Given the description of an element on the screen output the (x, y) to click on. 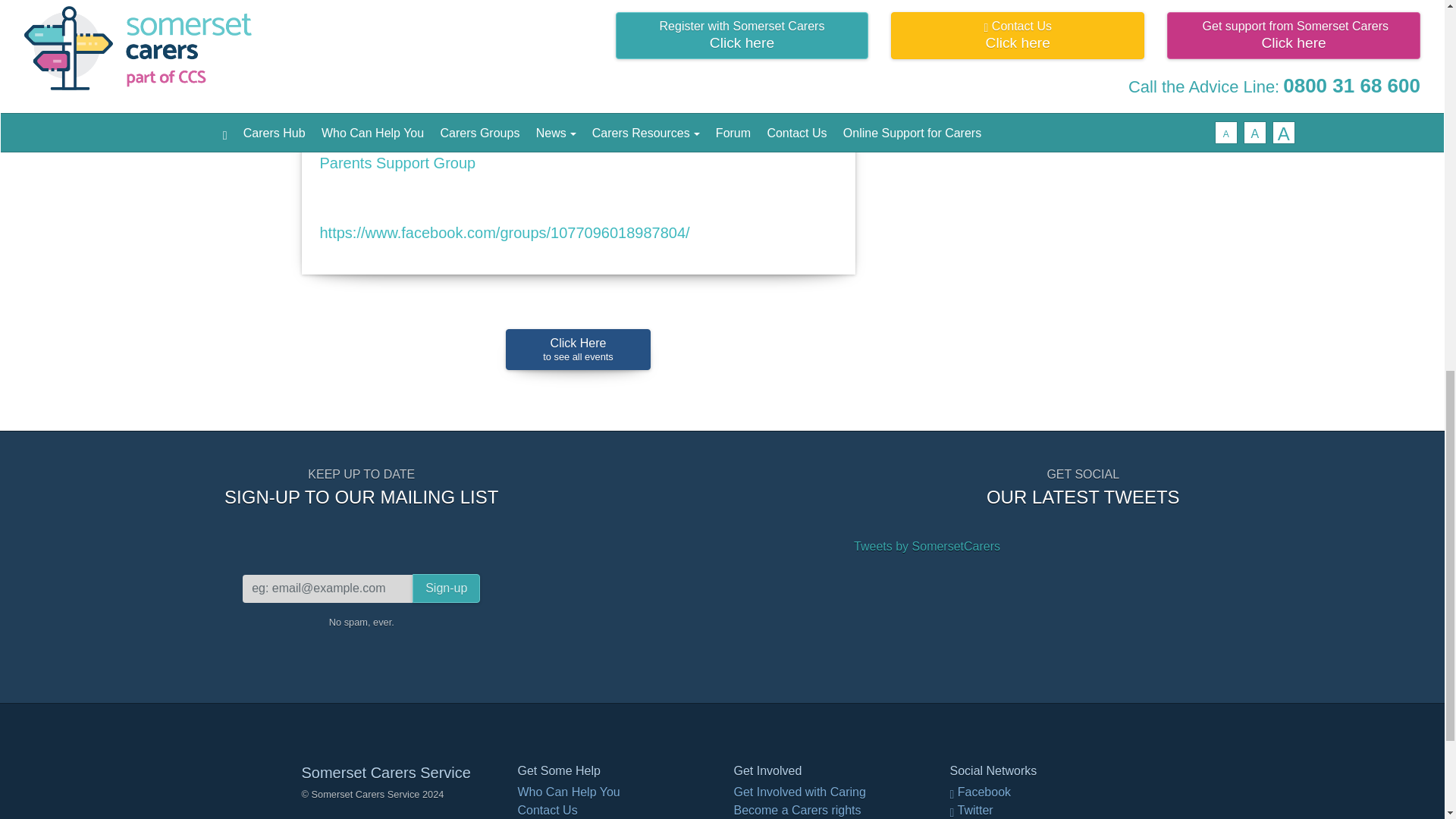
Tweets by SomersetCarers (577, 349)
Sign-up (926, 545)
Sign-up (446, 588)
Parents Support Group (446, 588)
